Given the description of an element on the screen output the (x, y) to click on. 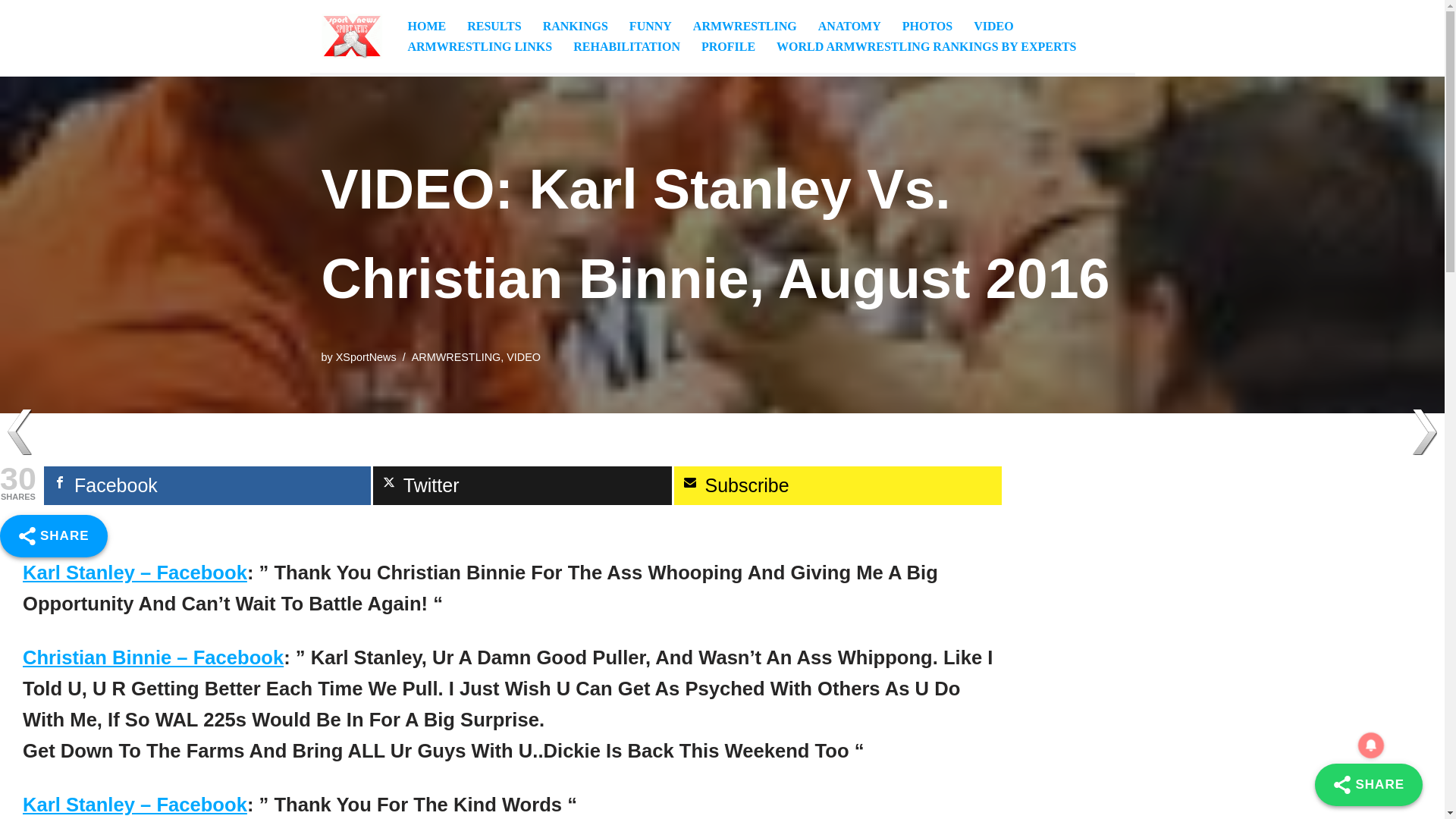
ARMWRESTLING LINKS (480, 46)
FUNNY (649, 25)
PHOTOS (927, 25)
RANKINGS (575, 25)
ARMWRESTLING (744, 25)
ANATOMY (849, 25)
VIDEO (993, 25)
WORLD ARMWRESTLING RANKINGS BY EXPERTS (925, 46)
Skip to content (11, 31)
VIDEO (523, 356)
PROFILE (728, 46)
Twitter (522, 485)
RESULTS (494, 25)
Subscribe (837, 485)
